Given the description of an element on the screen output the (x, y) to click on. 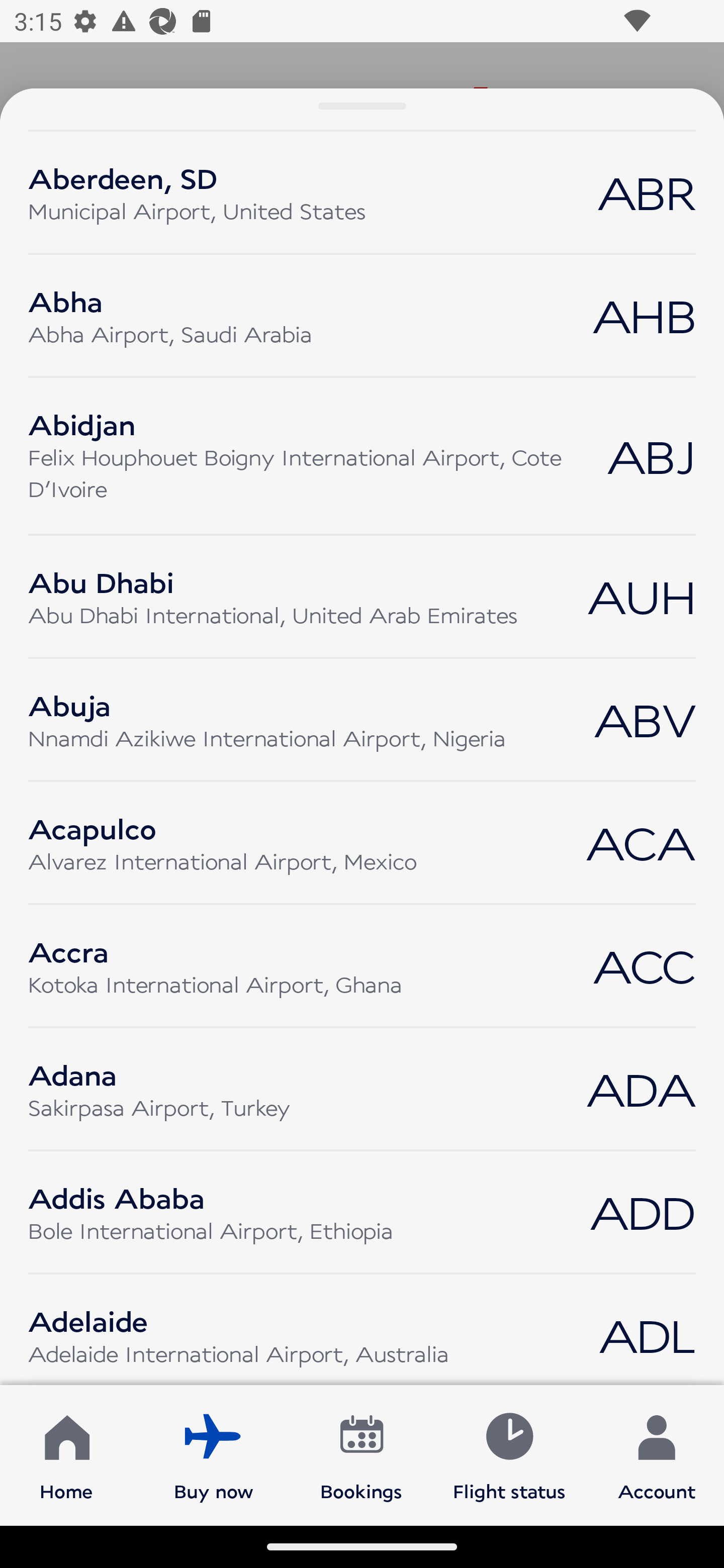
Aberdeen, SD Municipal Airport, United States ABR (361, 192)
Abha Abha Airport, Saudi Arabia AHB (361, 314)
Acapulco Alvarez International Airport, Mexico ACA (361, 842)
Accra Kotoka International Airport, Ghana ACC (361, 965)
Adana Sakirpasa Airport, Turkey ADA (361, 1088)
Home (66, 1454)
Bookings (361, 1454)
Flight status (509, 1454)
Account (657, 1454)
